Given the description of an element on the screen output the (x, y) to click on. 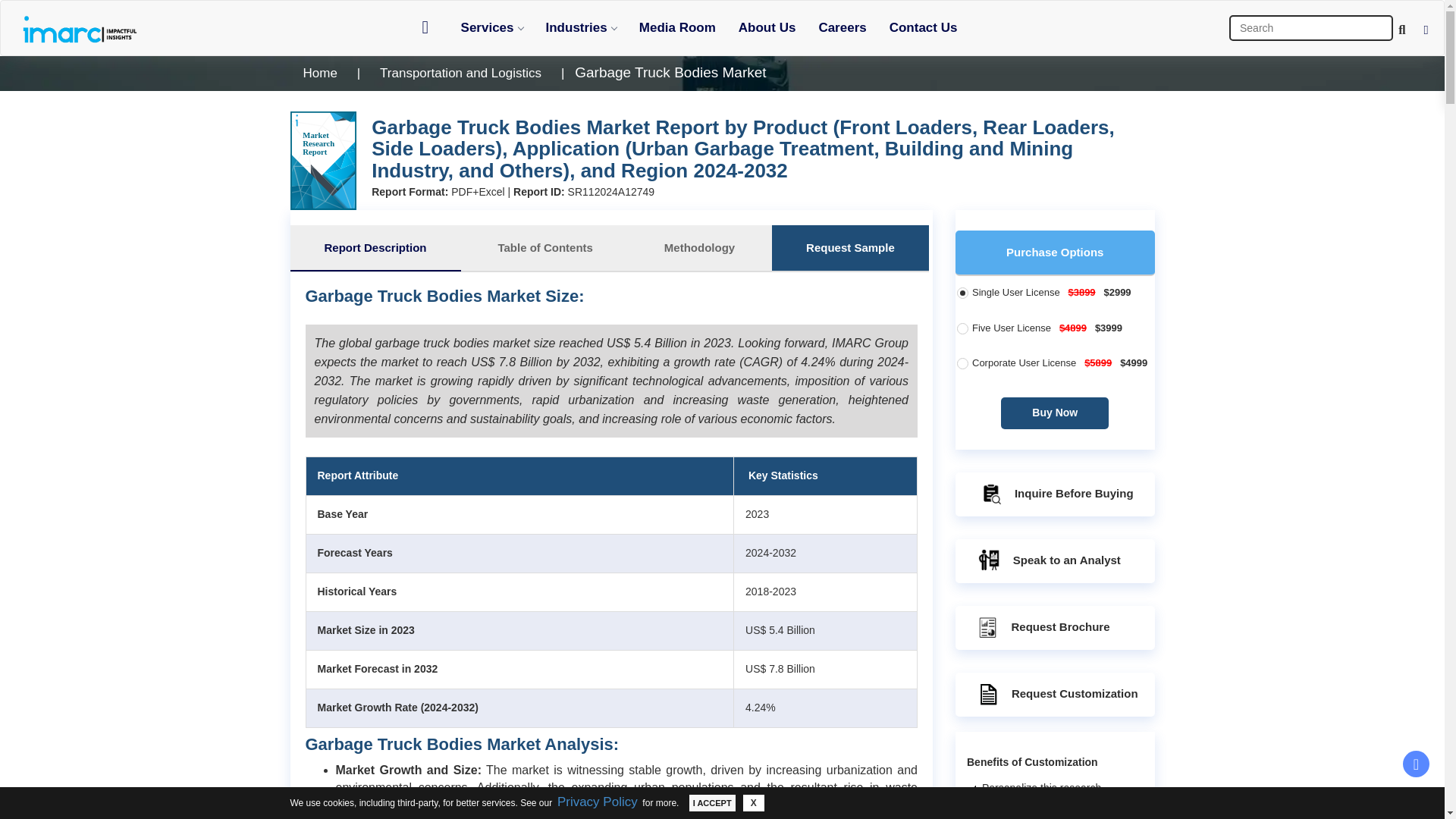
Careers (841, 27)
Services (491, 27)
Media Room (676, 27)
Contact Us (923, 27)
Industries (580, 27)
About Us (767, 27)
